Given the description of an element on the screen output the (x, y) to click on. 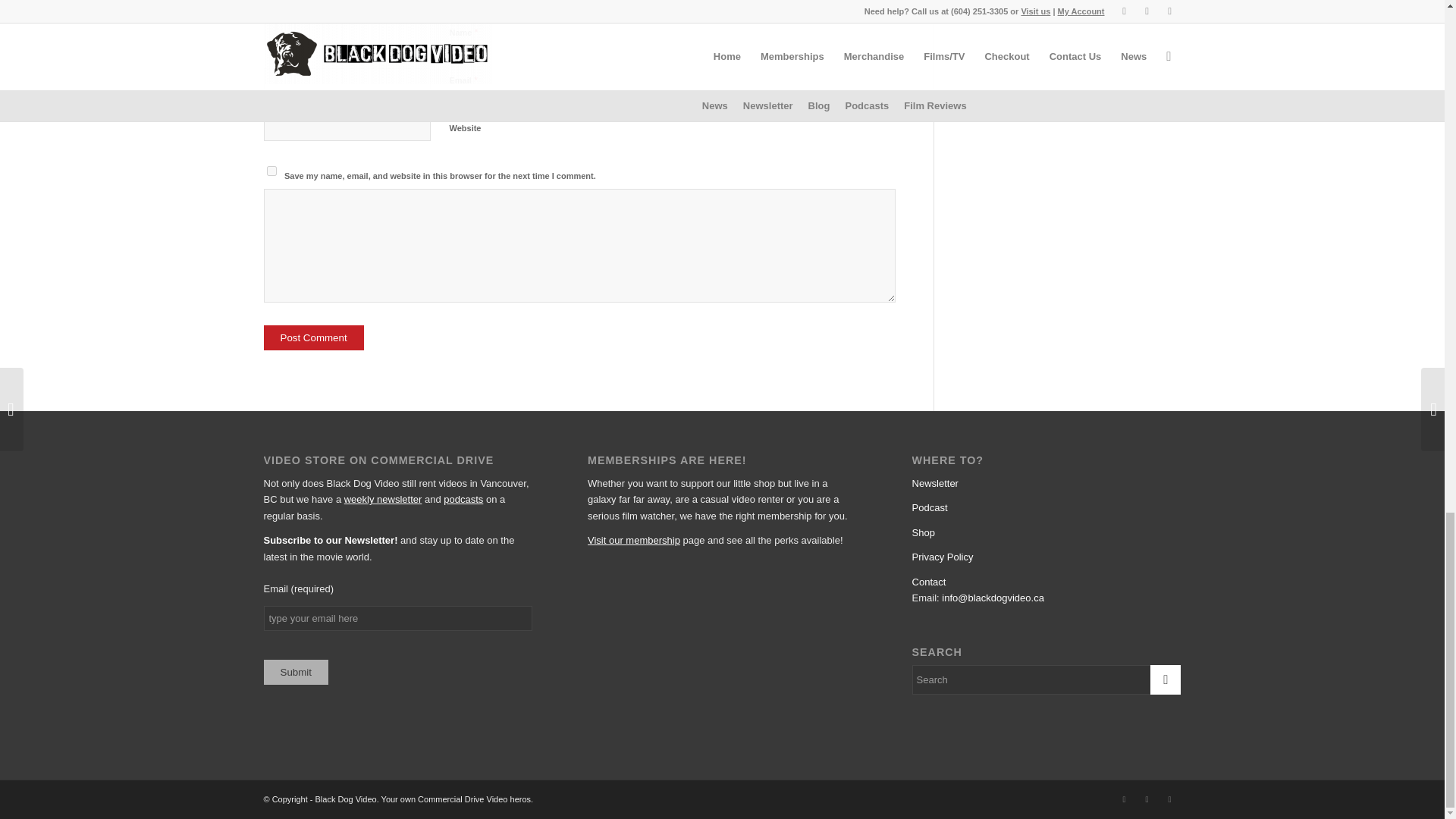
Post Comment (313, 337)
Submit (296, 672)
yes (271, 171)
